Given the description of an element on the screen output the (x, y) to click on. 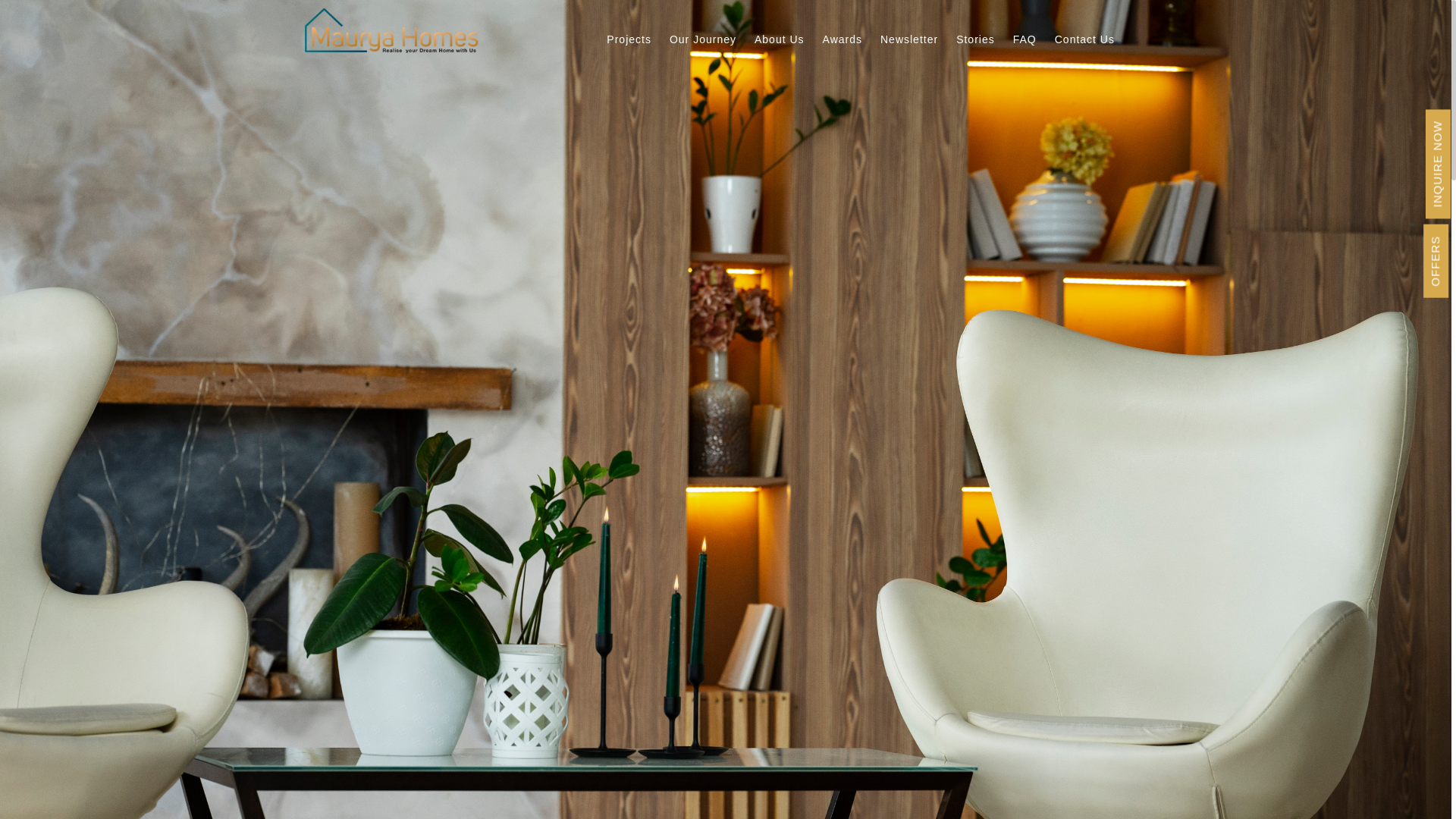
Projects (654, 49)
Our Journey (736, 48)
FAQ (1030, 43)
Newsletter (929, 45)
Contact Us (1093, 42)
Awards (860, 47)
About Us (802, 47)
Stories (987, 44)
